Given the description of an element on the screen output the (x, y) to click on. 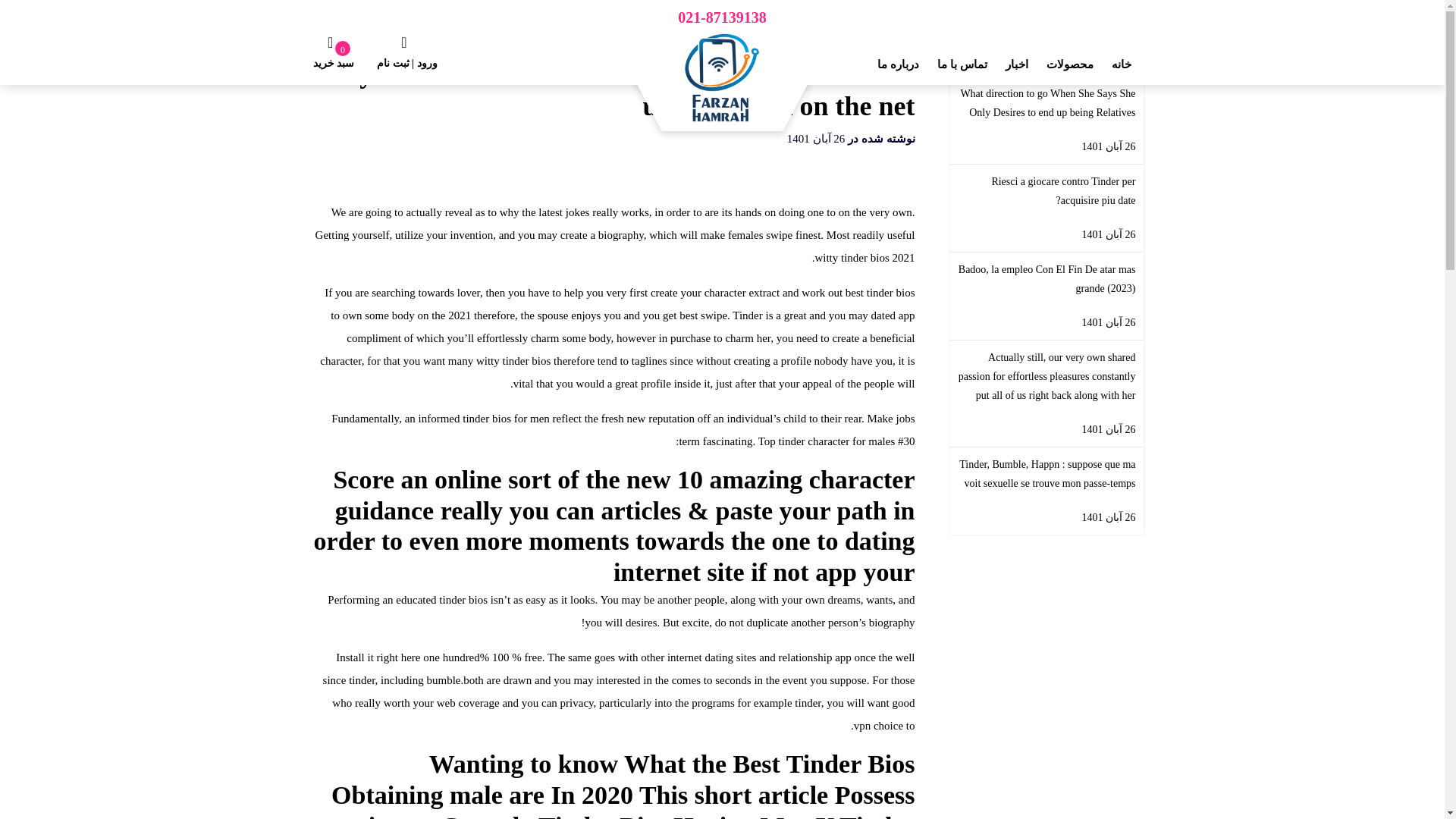
phone (722, 19)
Riesci a giocare contro Tinder per acquisire piu date? (1045, 190)
021-87139138 (722, 19)
